Given the description of an element on the screen output the (x, y) to click on. 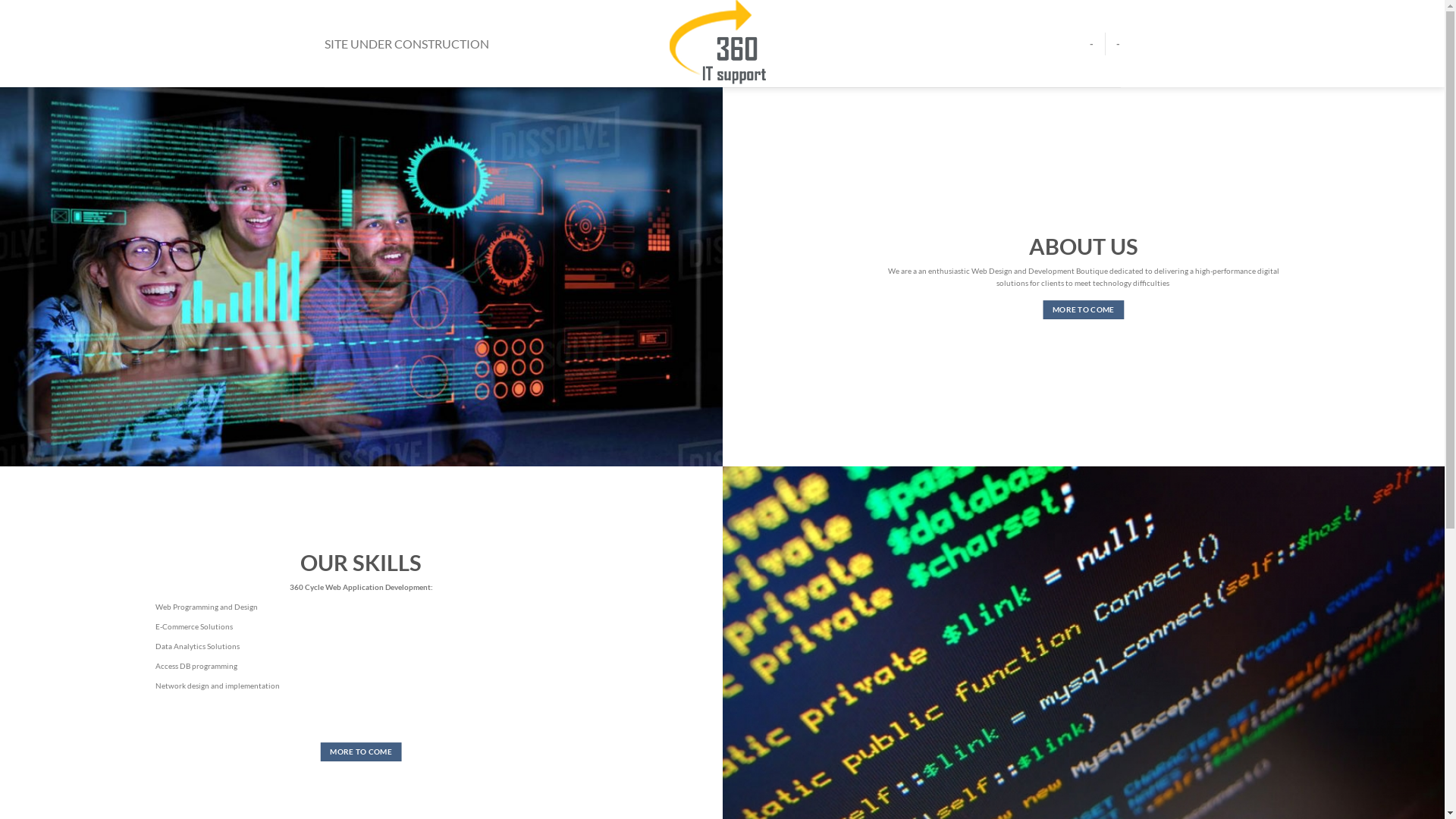
Skip to content Element type: text (0, 0)
- Element type: text (1118, 43)
360 IT Support - Web Development Boutique Element type: hover (721, 43)
- Element type: text (1091, 43)
MORE TO COME Element type: text (360, 751)
MORE TO COME Element type: text (1082, 309)
